Given the description of an element on the screen output the (x, y) to click on. 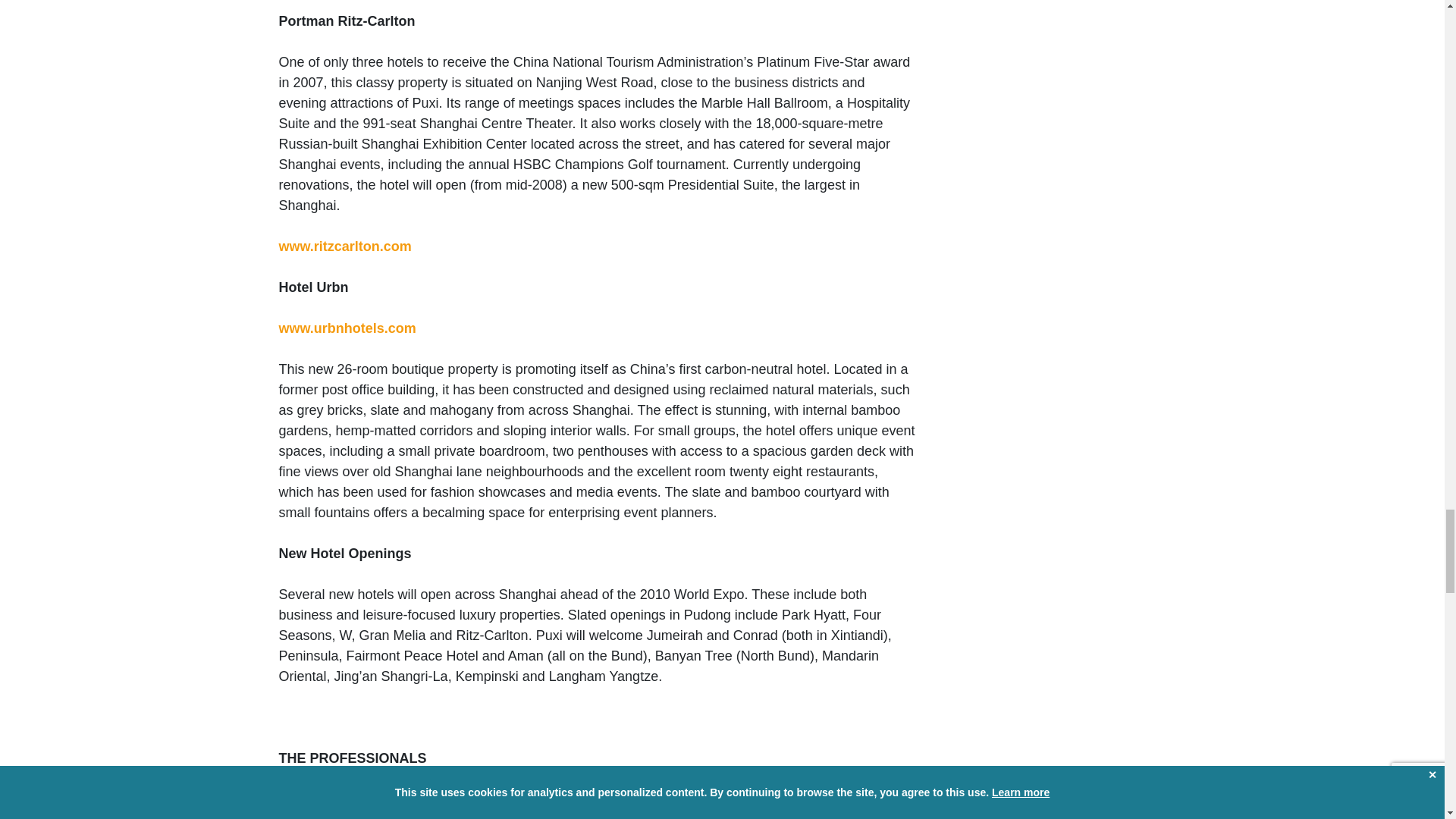
www.ritzcarlton.com (345, 246)
www.urbnhotels.com (347, 328)
